Given the description of an element on the screen output the (x, y) to click on. 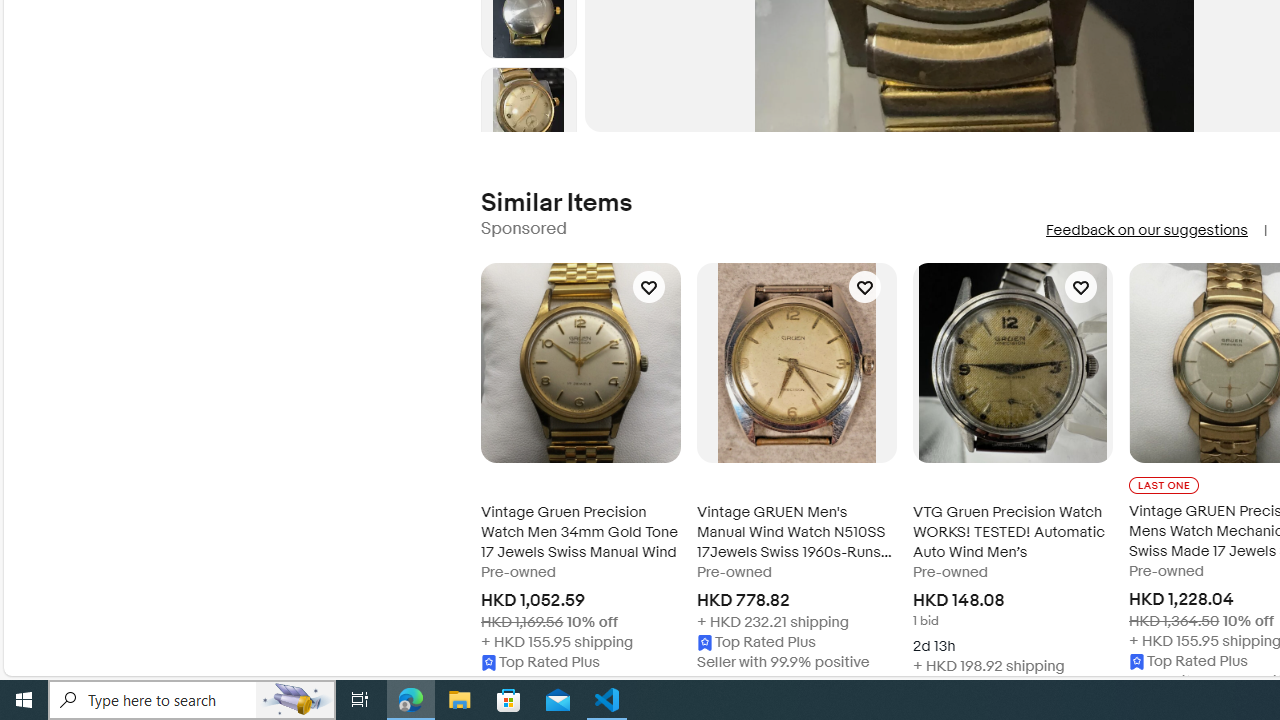
Picture 5 of 13 (528, 114)
Picture 5 of 13 (528, 114)
Next image - Item images thumbnails (528, 127)
Feedback on our suggestions (1146, 229)
